Given the description of an element on the screen output the (x, y) to click on. 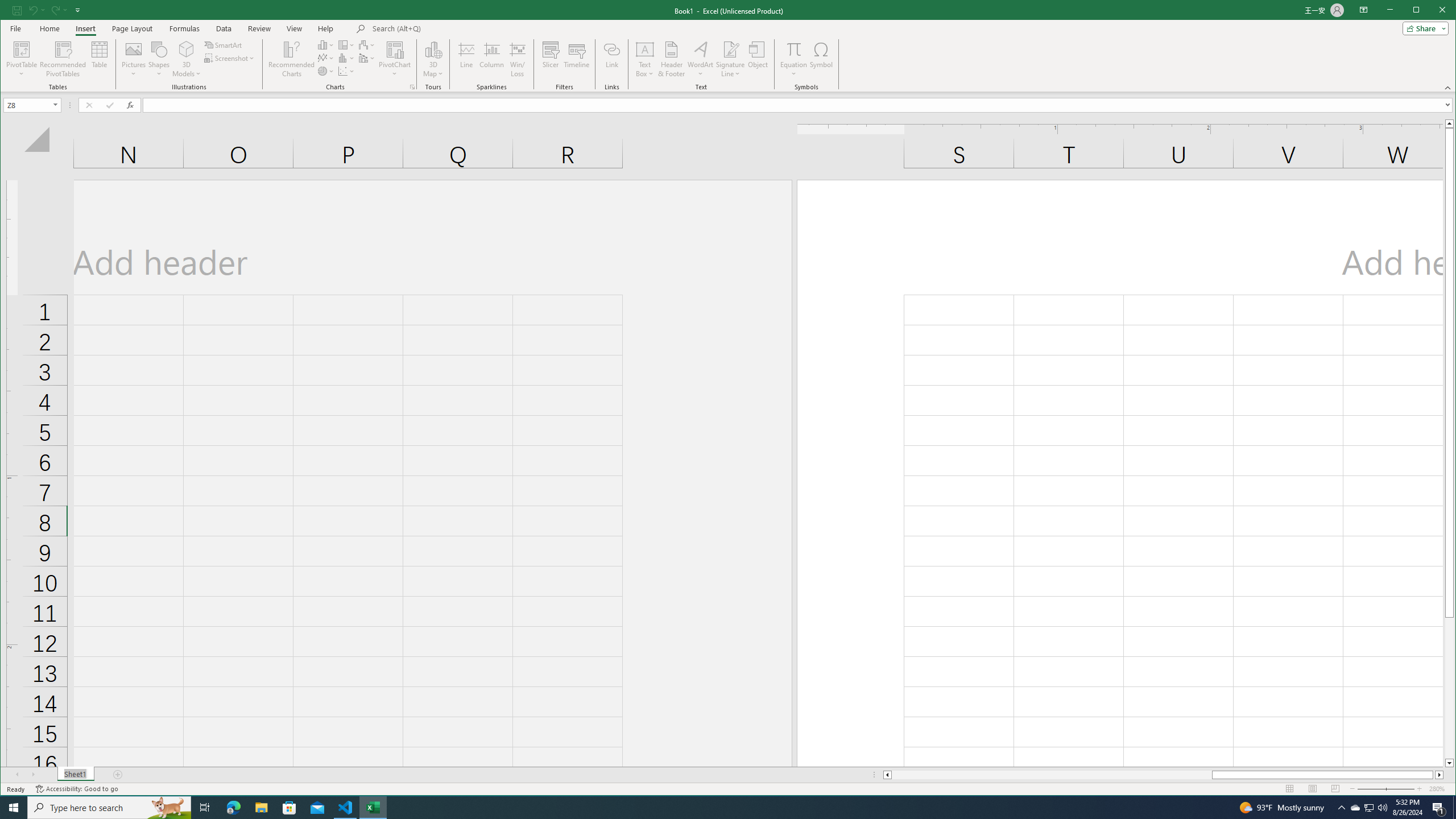
3D Models (186, 48)
User Promoted Notification Area (1368, 807)
Q2790: 100% (1382, 807)
Recommended PivotTables (63, 59)
Equation (793, 48)
Start (13, 807)
Insert Hierarchy Chart (346, 44)
Page left (1051, 774)
